Given the description of an element on the screen output the (x, y) to click on. 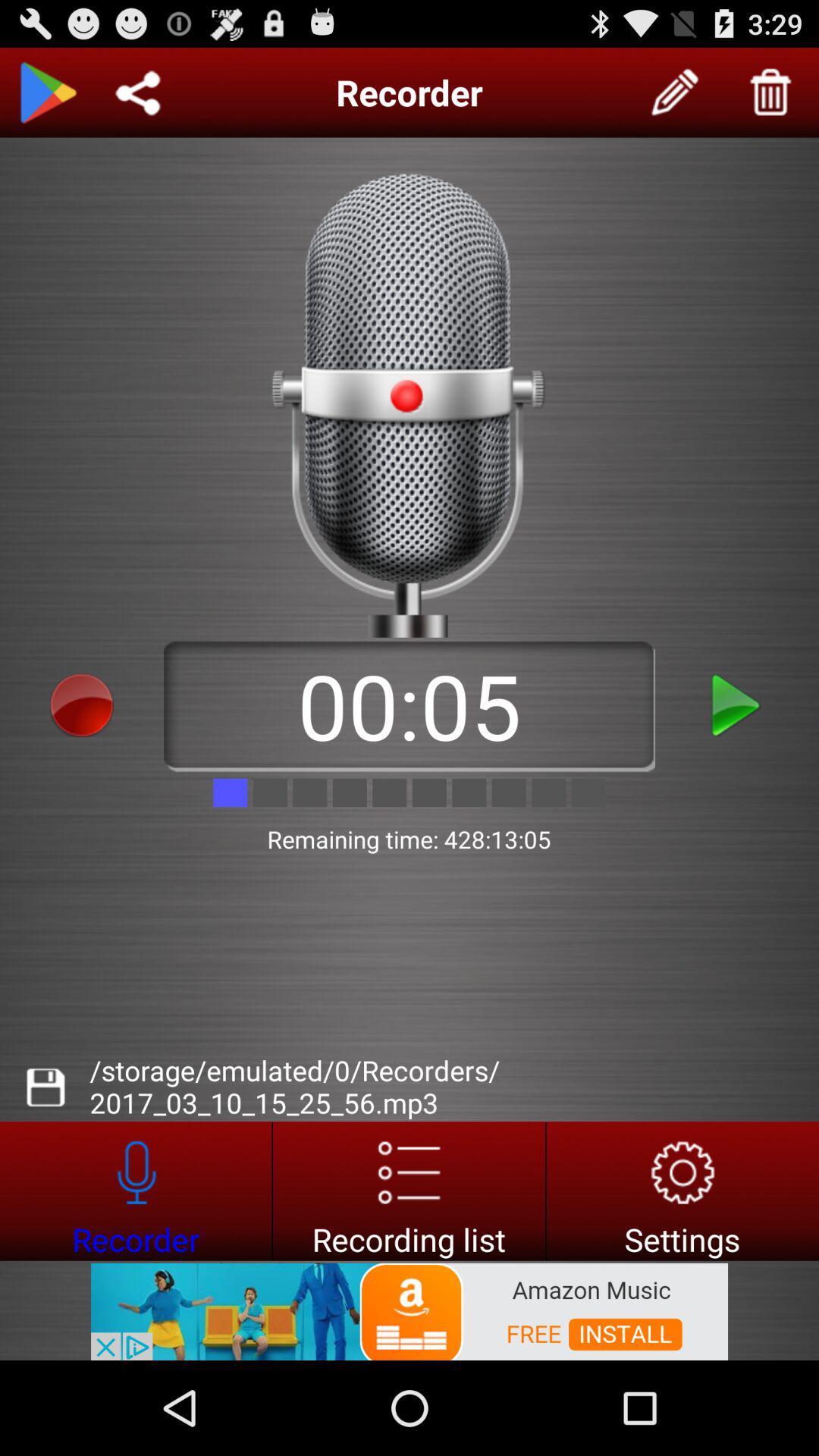
go to recording (135, 1190)
